Given the description of an element on the screen output the (x, y) to click on. 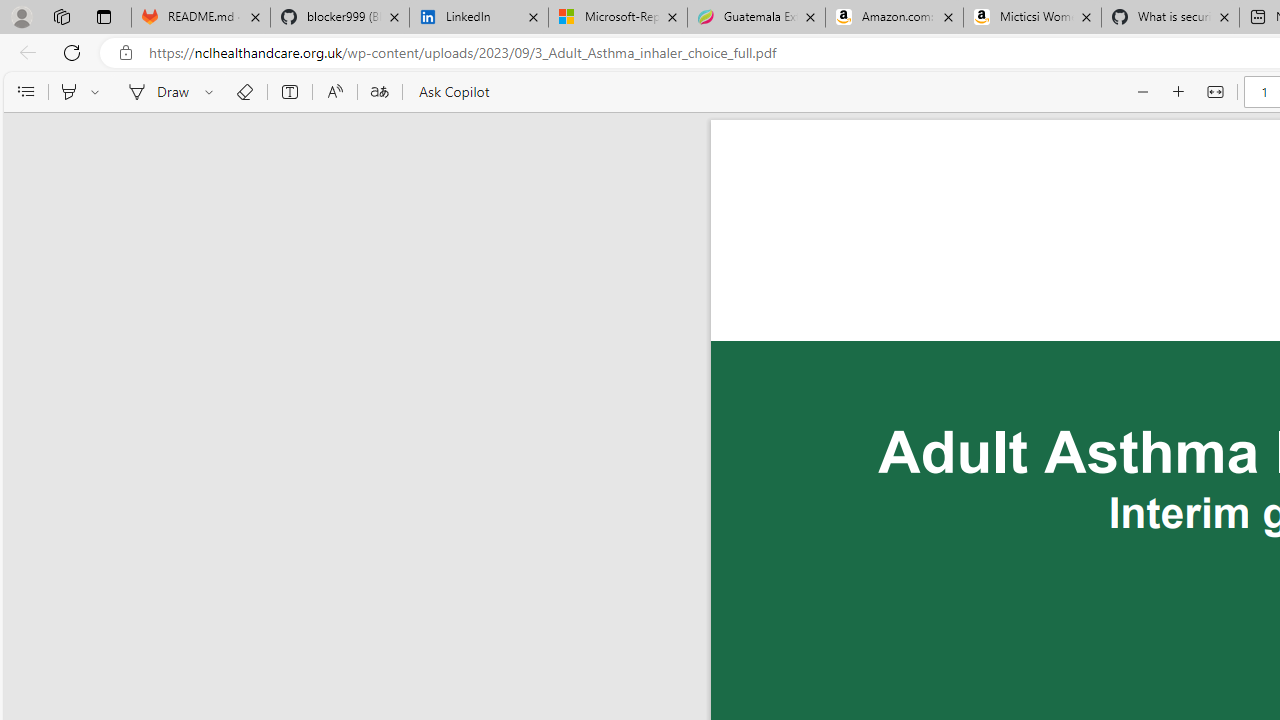
Contents (25, 92)
Select a highlight color (98, 92)
Erase (244, 92)
LinkedIn (478, 17)
Zoom in (Ctrl+Plus key) (1179, 92)
Translate (379, 92)
